Given the description of an element on the screen output the (x, y) to click on. 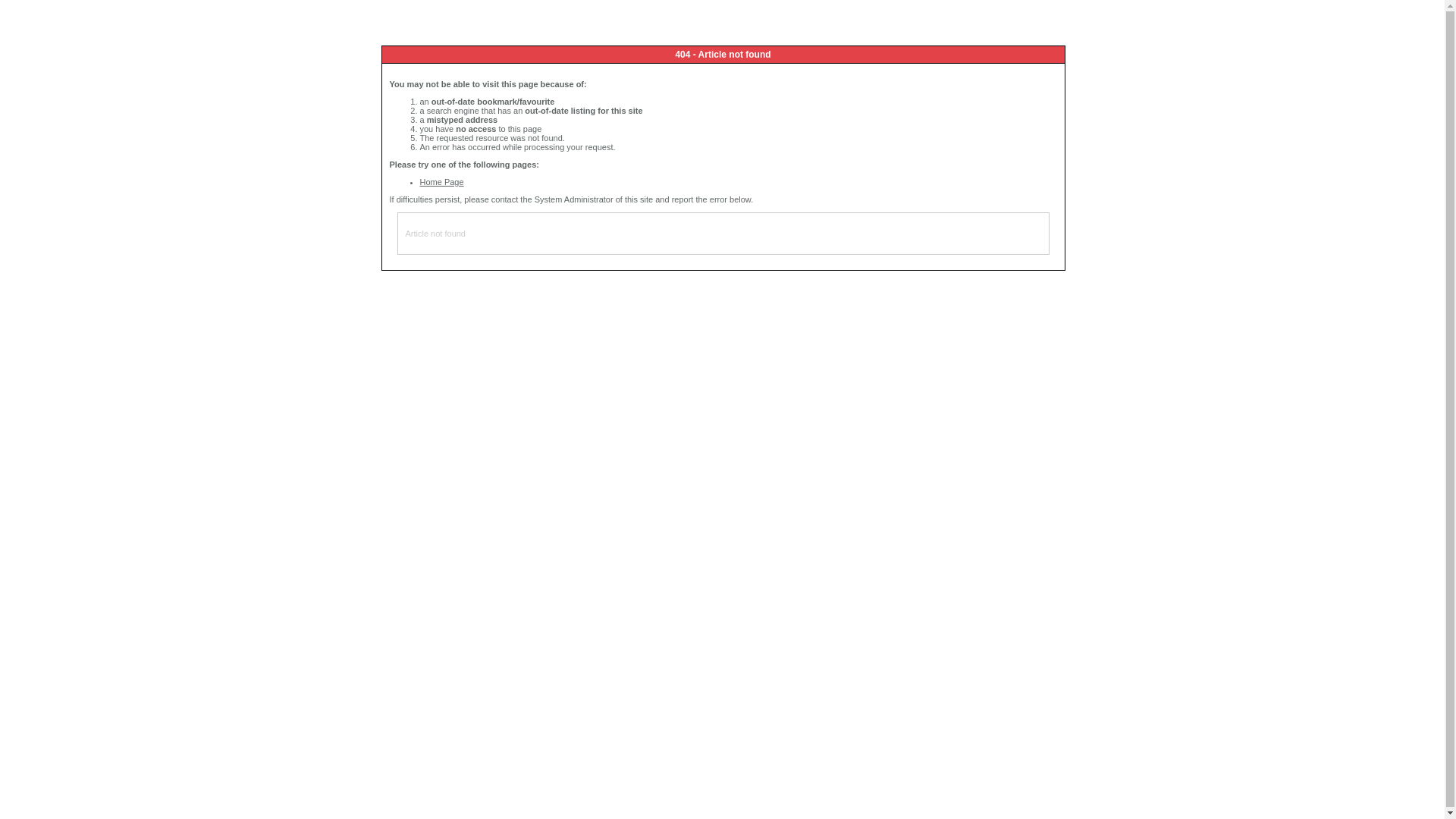
Home Page Element type: text (442, 181)
